Given the description of an element on the screen output the (x, y) to click on. 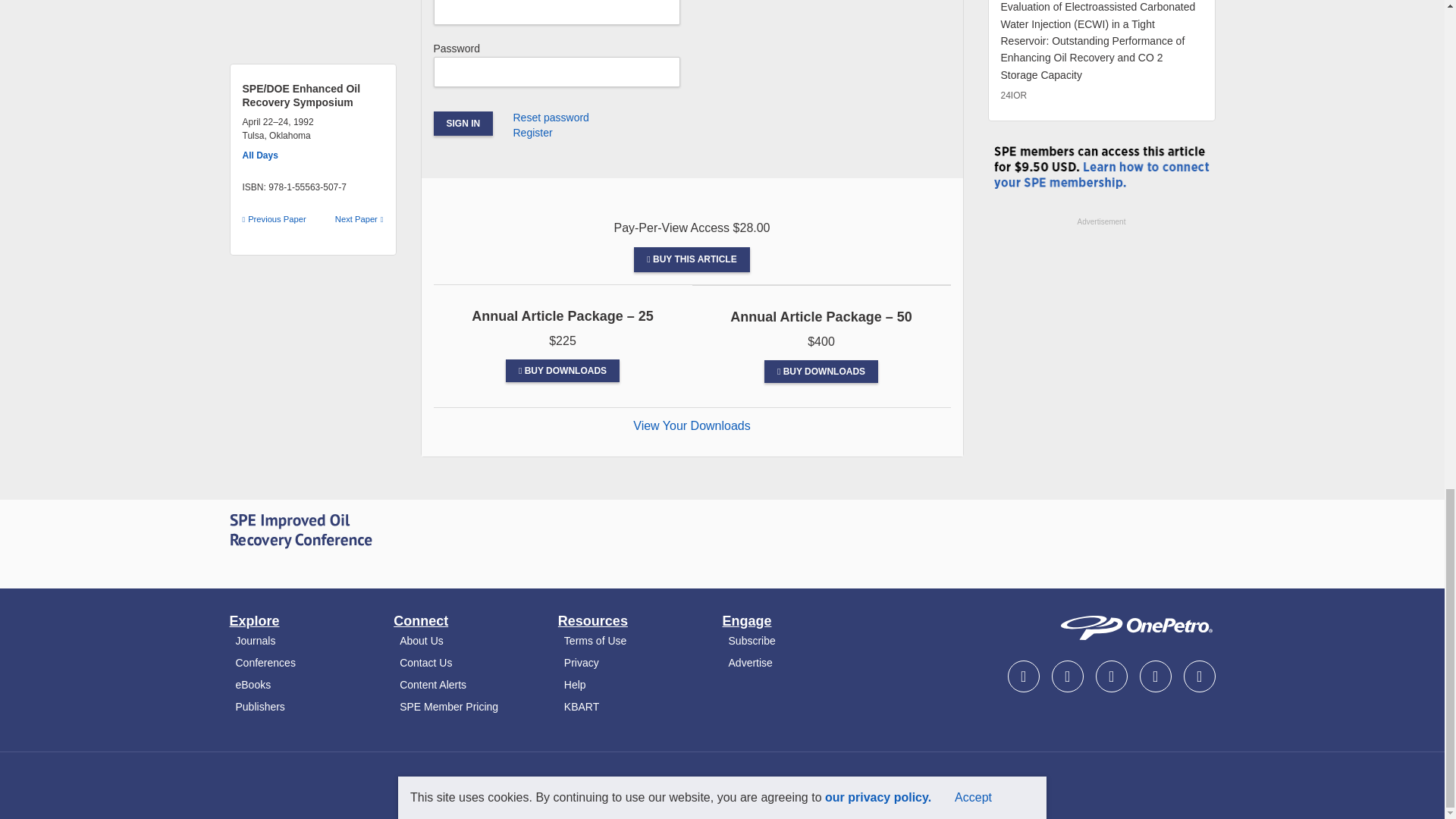
3rd party ad content (1100, 323)
